Given the description of an element on the screen output the (x, y) to click on. 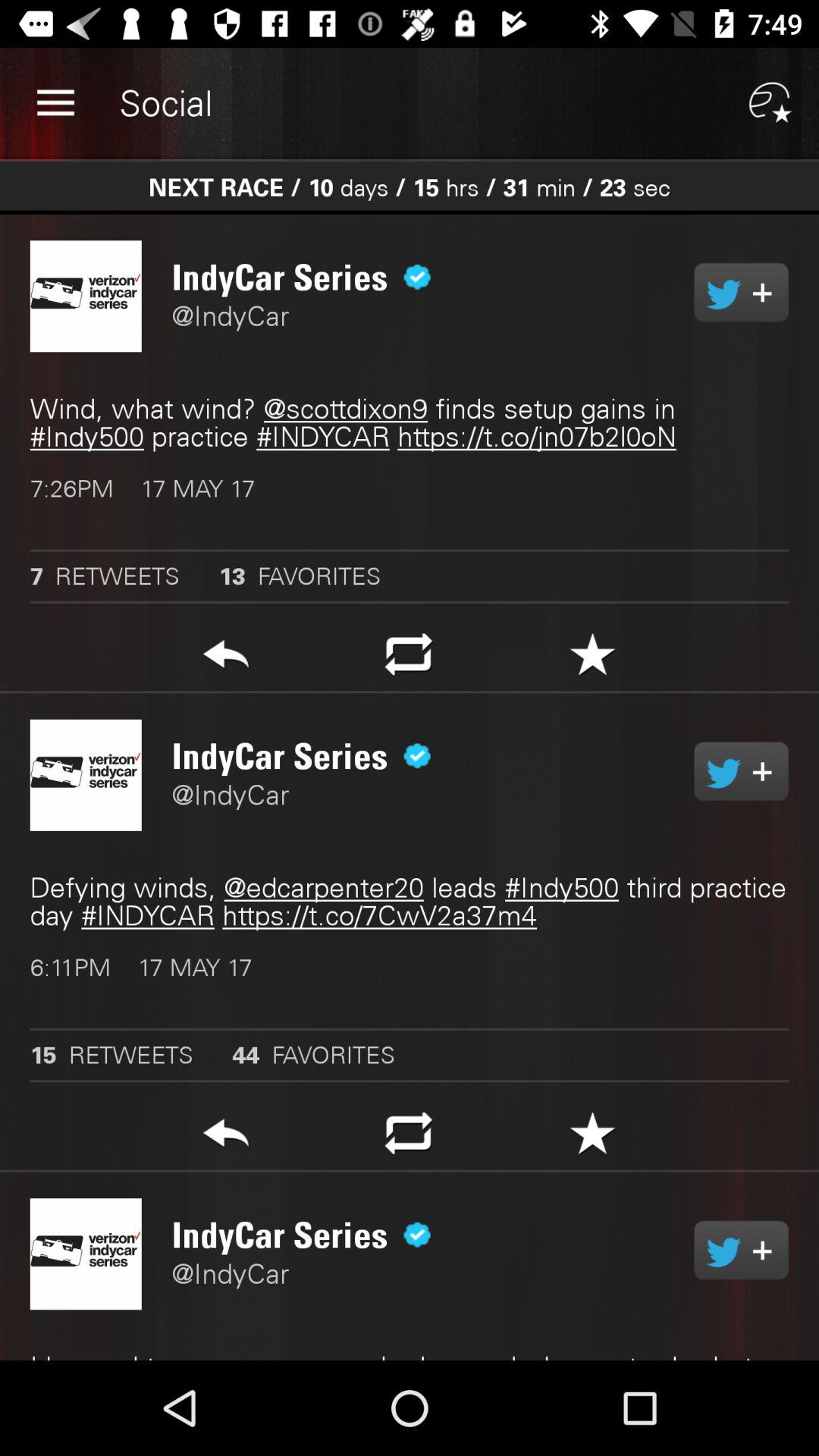
shows twitter icon (740, 1249)
